Given the description of an element on the screen output the (x, y) to click on. 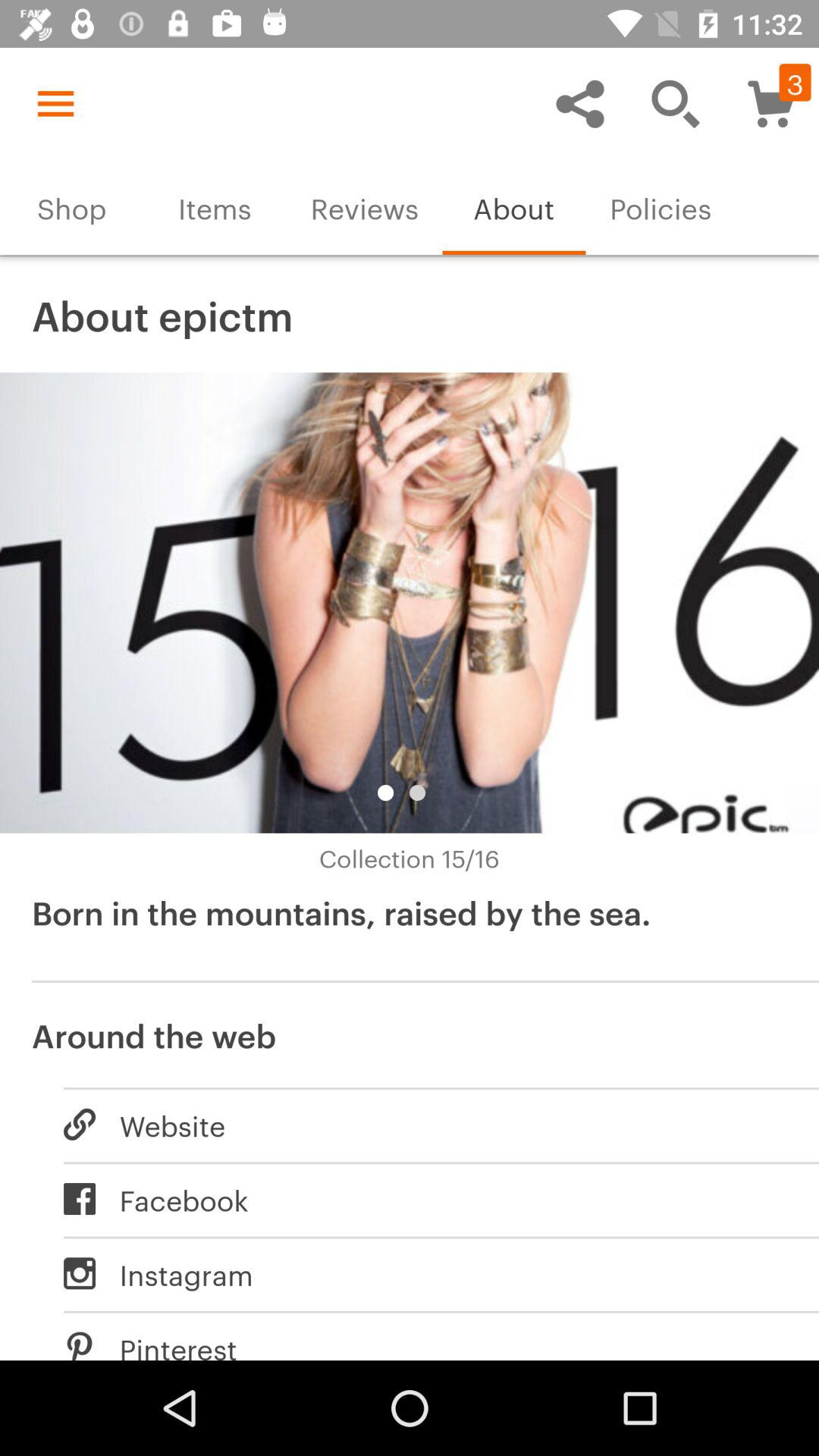
press the item above the about (579, 103)
